Given the description of an element on the screen output the (x, y) to click on. 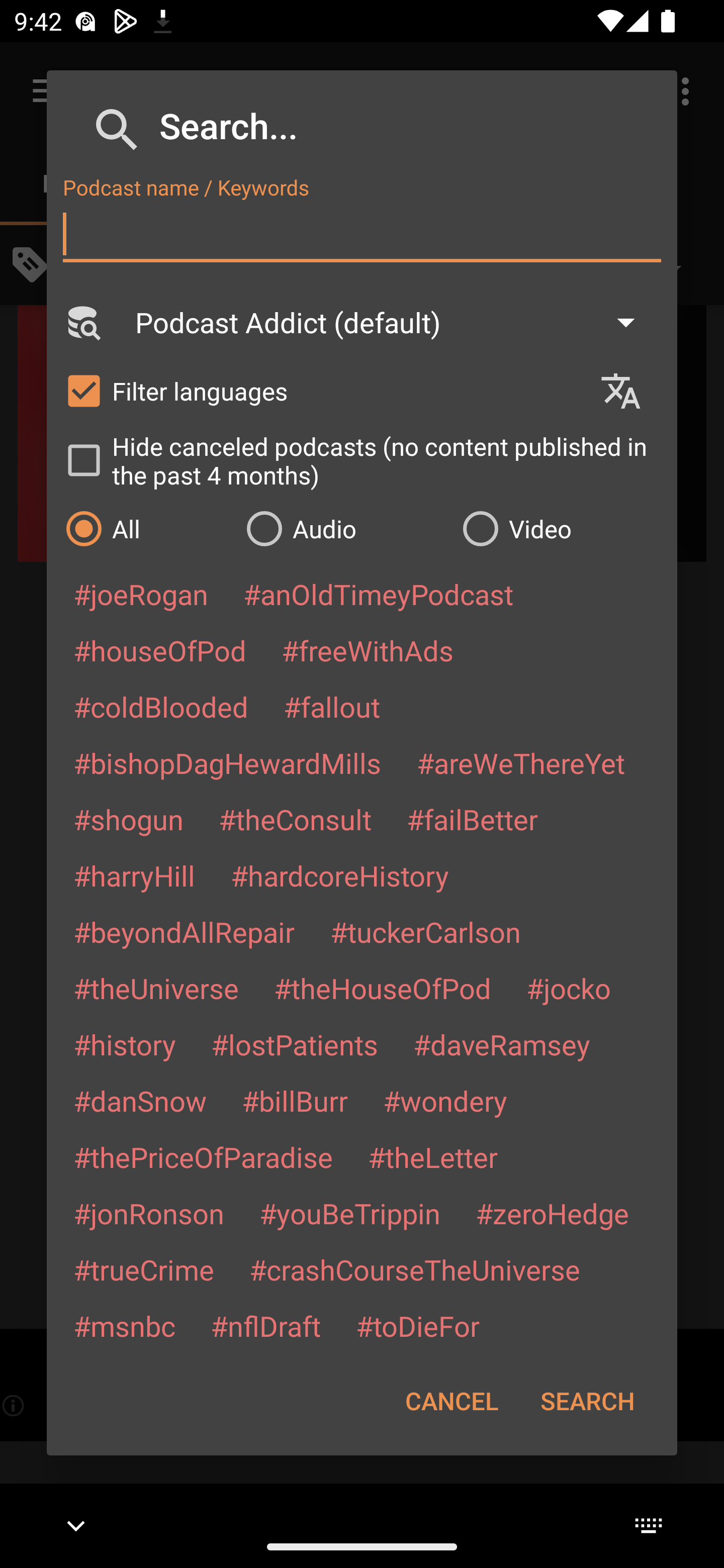
Podcast name / Keywords (361, 234)
Search Engine (82, 322)
Podcast Addict (default) (394, 322)
Languages selection (629, 390)
Filter languages (322, 390)
All (145, 528)
Audio (344, 528)
Video (560, 528)
#joeRogan (140, 594)
#anOldTimeyPodcast (378, 594)
#houseOfPod (159, 650)
#freeWithAds (367, 650)
#coldBlooded (160, 705)
#fallout (331, 705)
#bishopDagHewardMills (227, 762)
#areWeThereYet (521, 762)
#shogun (128, 818)
#theConsult (294, 818)
#failBetter (471, 818)
#harryHill (134, 875)
#hardcoreHistory (339, 875)
#beyondAllRepair (184, 931)
#tuckerCarlson (425, 931)
#theUniverse (155, 987)
#theHouseOfPod (381, 987)
#jocko (568, 987)
#history (124, 1044)
#lostPatients (294, 1044)
#daveRamsey (501, 1044)
#danSnow (139, 1100)
#billBurr (294, 1100)
#wondery (444, 1100)
#thePriceOfParadise (203, 1157)
#theLetter (432, 1157)
#jonRonson (148, 1213)
#youBeTrippin (349, 1213)
#zeroHedge (552, 1213)
#trueCrime (143, 1268)
#crashCourseTheUniverse (414, 1268)
#msnbc (124, 1325)
#nflDraft (265, 1325)
#toDieFor (417, 1325)
CANCEL (451, 1400)
SEARCH (587, 1400)
